Given the description of an element on the screen output the (x, y) to click on. 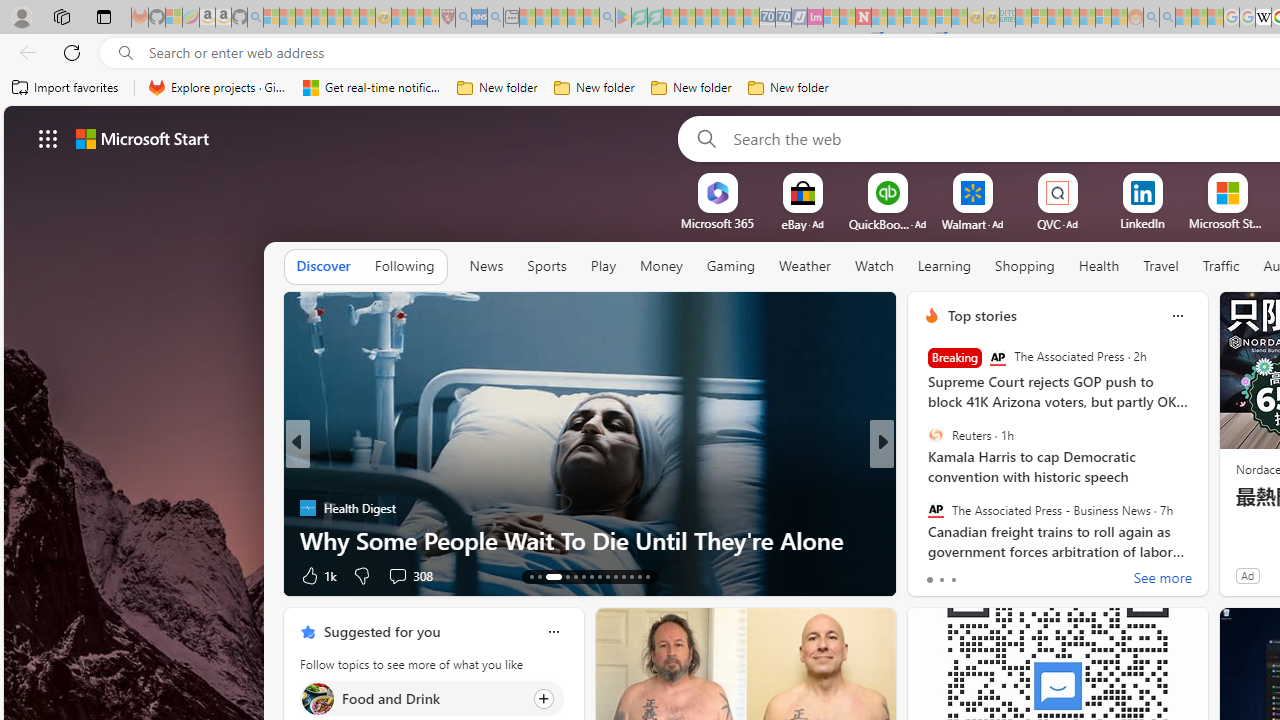
1k Like (317, 574)
App launcher (47, 138)
View comments 13 Comment (1029, 574)
View comments 2 Comment (1019, 574)
tab-2 (953, 579)
View comments 3 Comment (1019, 574)
INSIDER (923, 475)
